Given the description of an element on the screen output the (x, y) to click on. 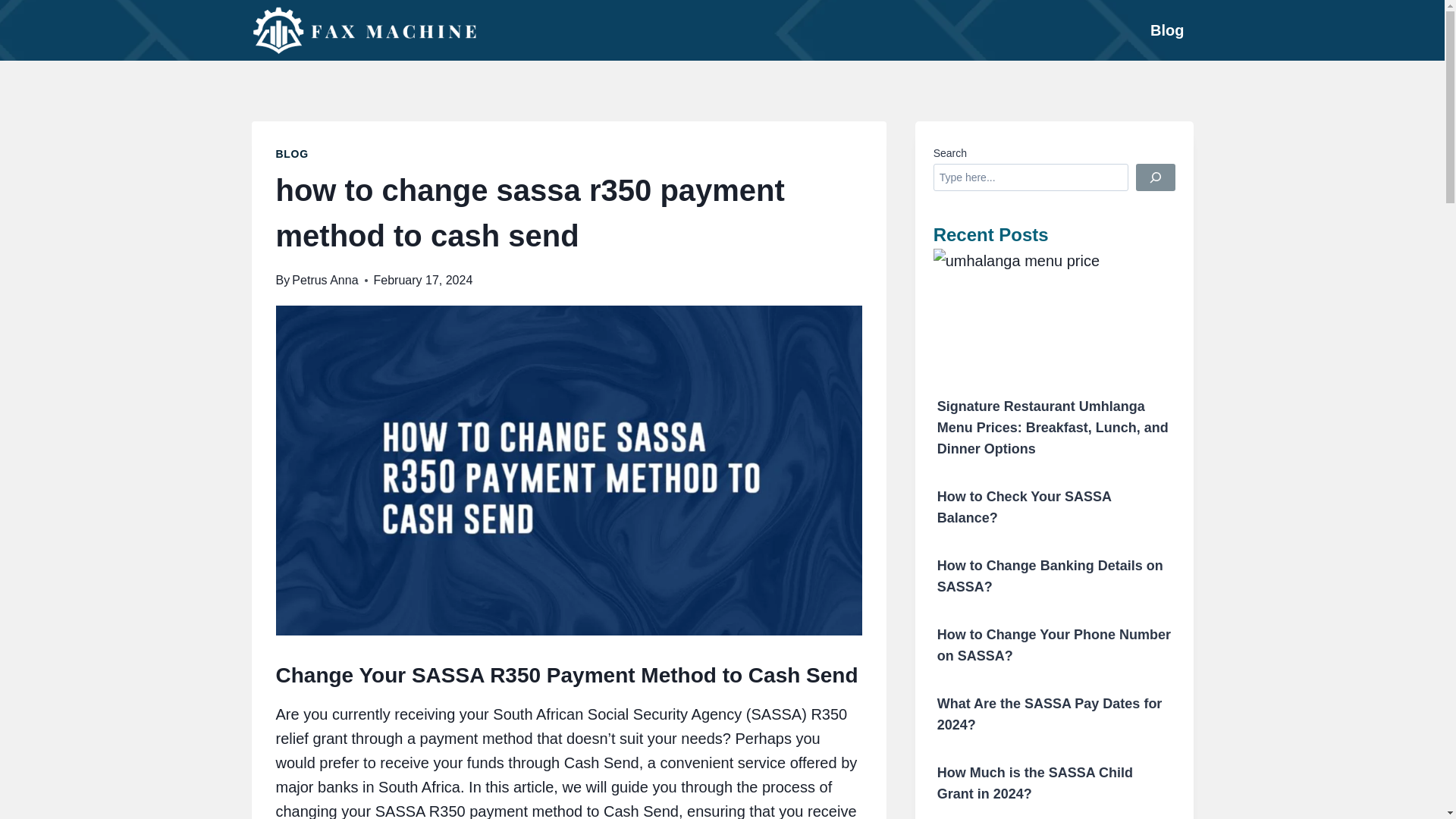
BLOG (292, 153)
Petrus Anna (325, 279)
Blog (1166, 30)
